Given the description of an element on the screen output the (x, y) to click on. 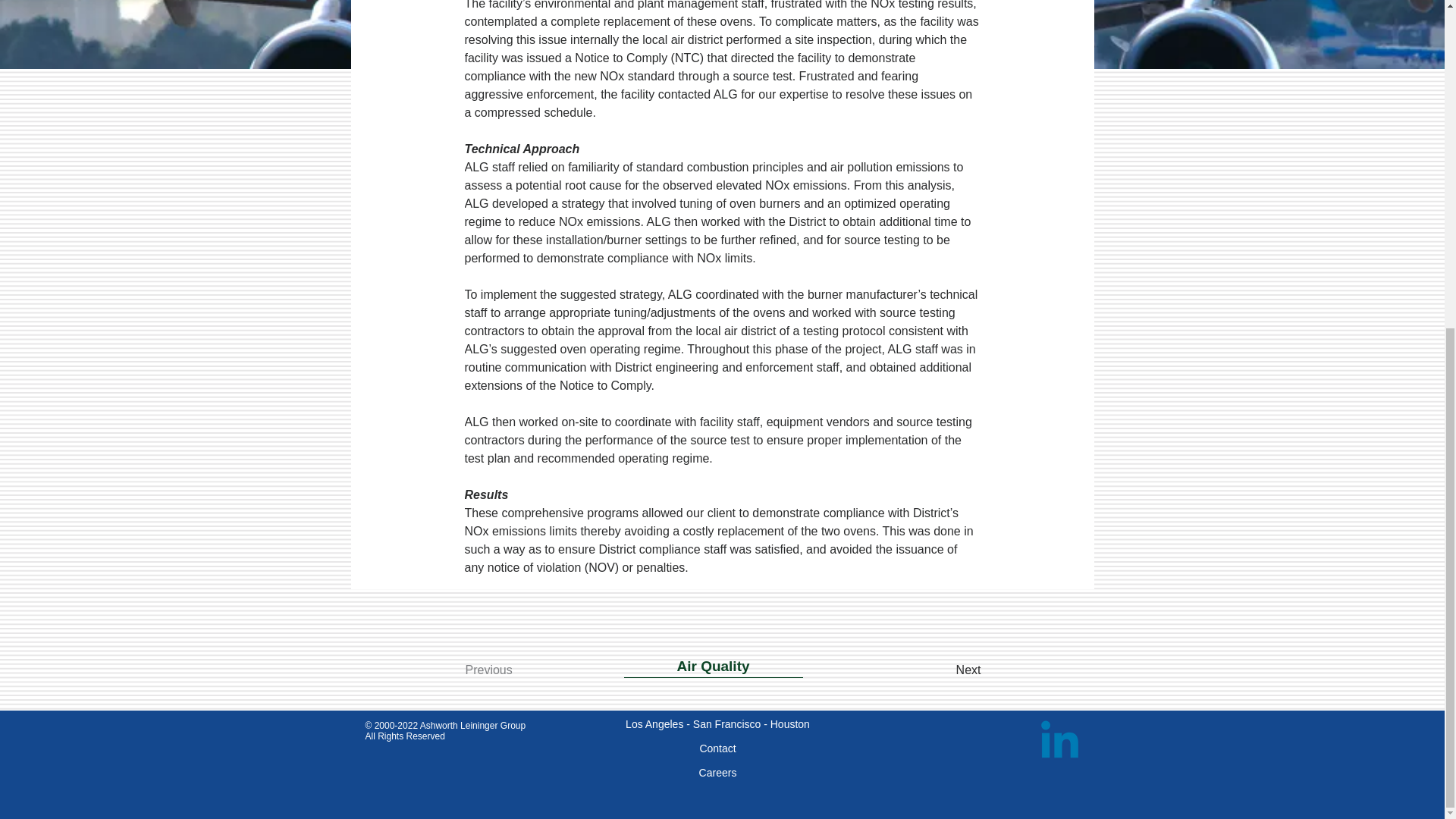
Los Angeles - San Francisco - Houston (717, 724)
Contact (716, 748)
Careers (717, 772)
Air Quality (712, 666)
Previous (526, 670)
Next (928, 670)
